Given the description of an element on the screen output the (x, y) to click on. 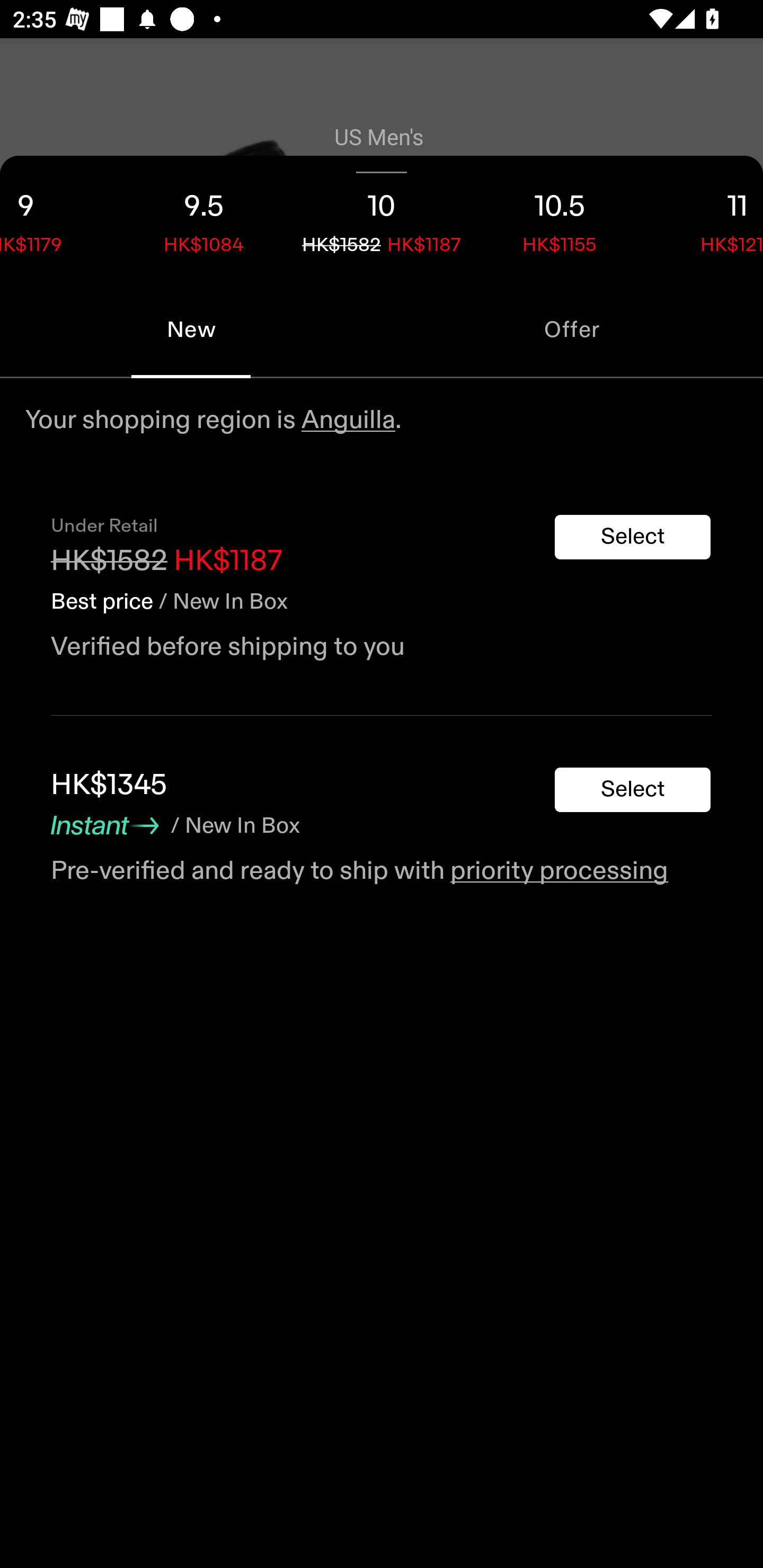
9 HK$1179 (57, 218)
9.5 HK$1084 (203, 218)
10 HK$1582 HK$1187 (381, 218)
10.5 HK$1155 (559, 218)
11 HK$1218 (705, 218)
Offer (572, 329)
Select (632, 536)
HK$1345 (109, 785)
Select (632, 789)
